Given the description of an element on the screen output the (x, y) to click on. 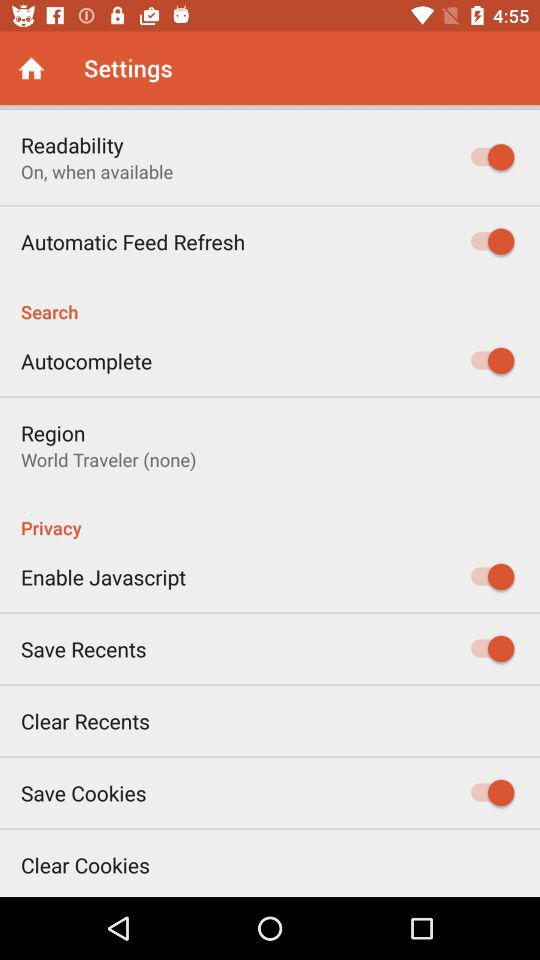
turn on the icon next to the settings (31, 68)
